Given the description of an element on the screen output the (x, y) to click on. 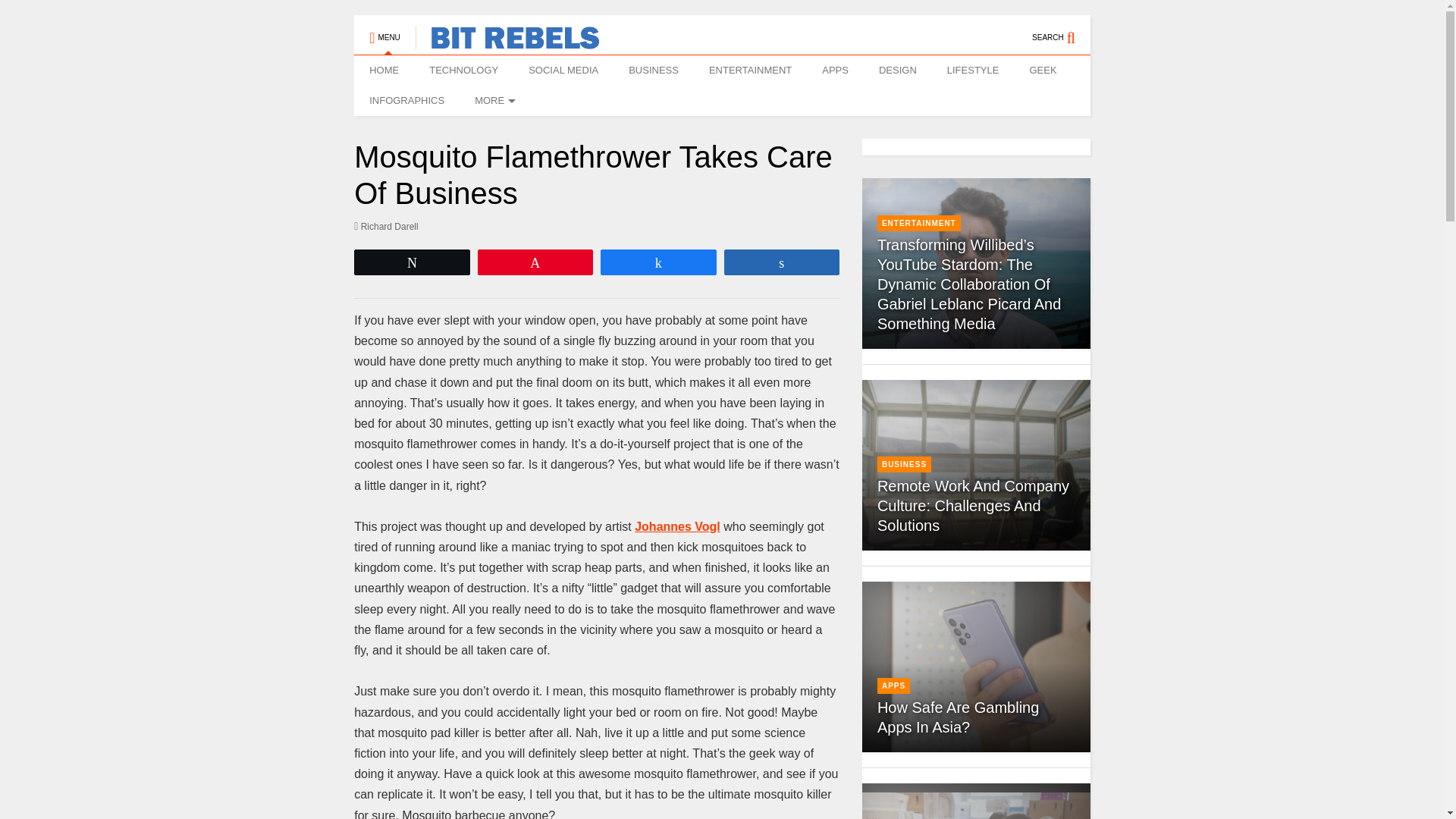
TECHNOLOGY (463, 70)
APPS (834, 70)
INFOGRAPHICS (406, 100)
MORE (493, 100)
GEEK (1042, 70)
Johannes Vogl - Website (677, 526)
SEARCH (1061, 30)
HOME (383, 70)
ENTERTAINMENT (750, 70)
Richard Darell (386, 226)
Richard Darell (386, 226)
Remote Work And Company Culture: Challenges And Solutions (976, 465)
Bit Rebels (506, 42)
SOCIAL MEDIA (562, 70)
LIFESTYLE (972, 70)
